Given the description of an element on the screen output the (x, y) to click on. 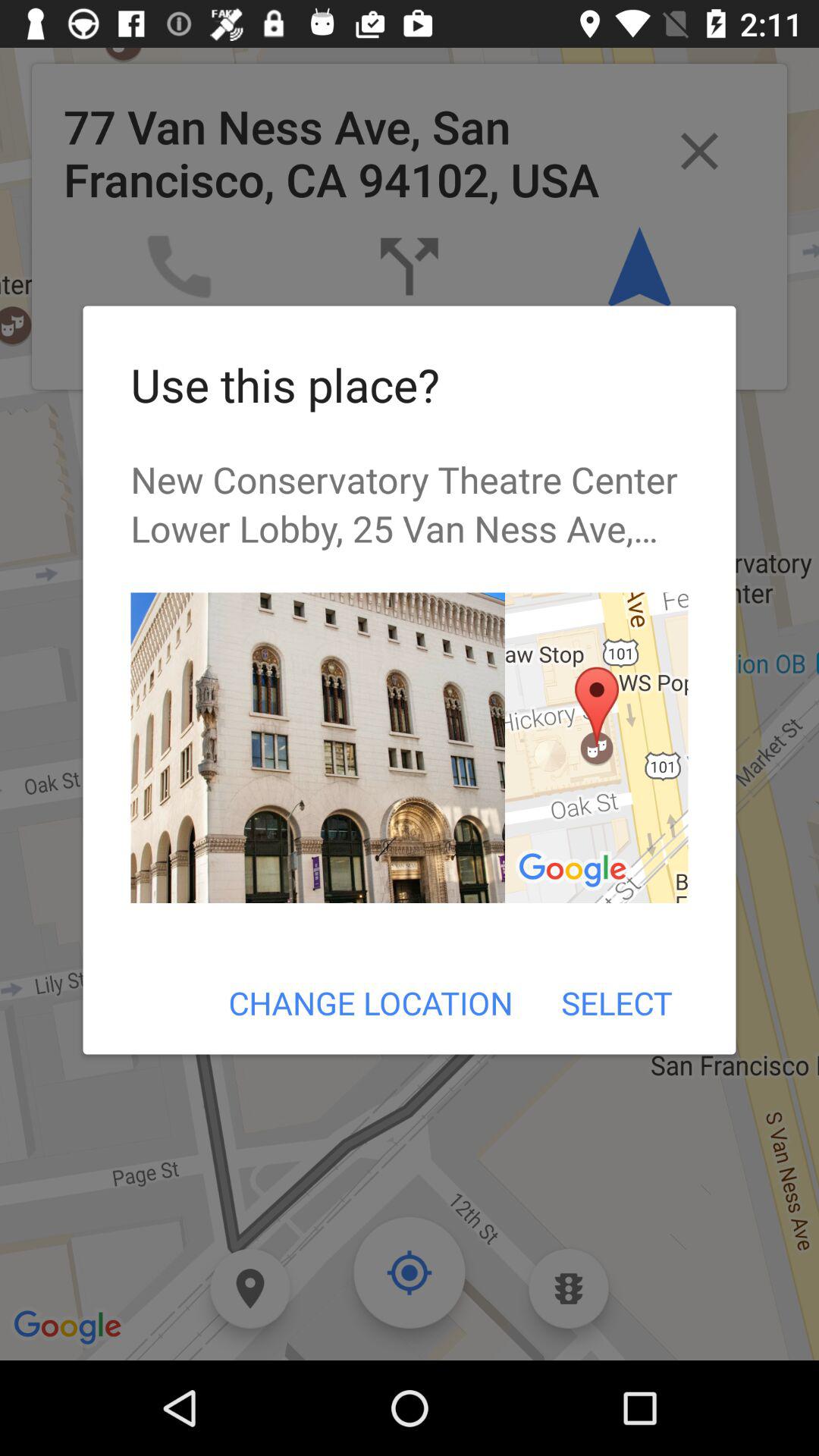
launch icon to the right of change location icon (616, 1002)
